Given the description of an element on the screen output the (x, y) to click on. 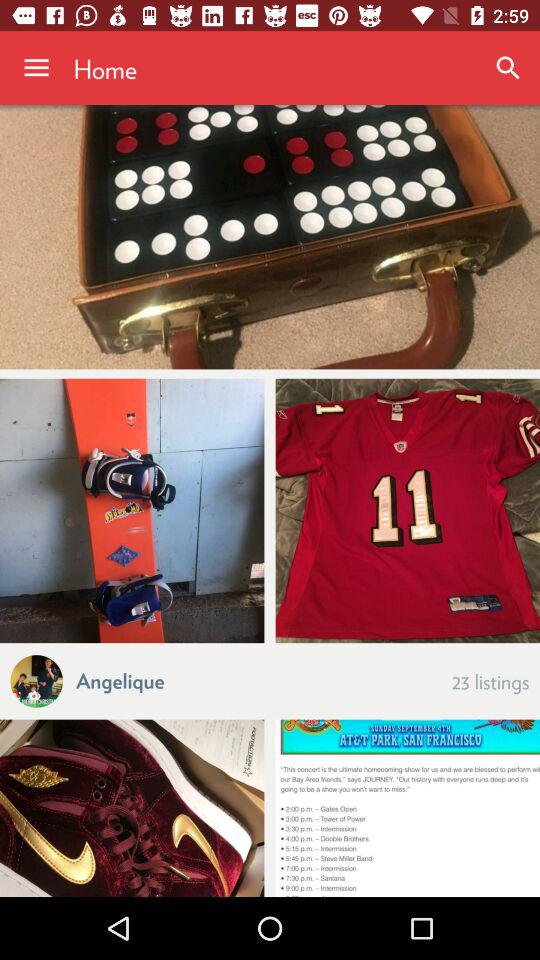
press item above a icon (132, 510)
